Given the description of an element on the screen output the (x, y) to click on. 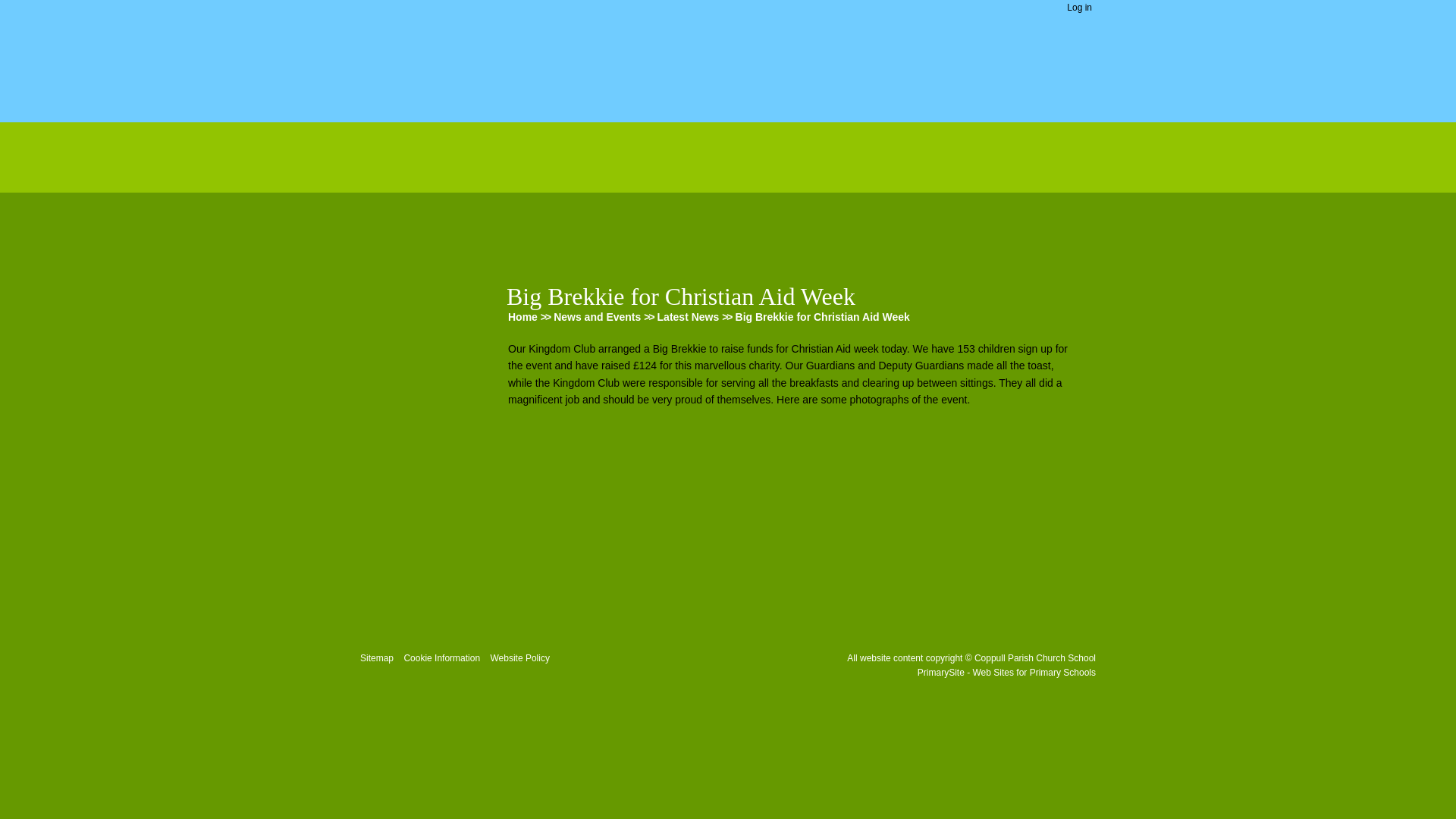
Home (522, 316)
Home (419, 199)
Log in (1079, 8)
About Us (419, 238)
Big Brekkie for Christian Aid Week (822, 316)
News and Events (596, 316)
Key Information (422, 284)
Latest News (688, 316)
